Given the description of an element on the screen output the (x, y) to click on. 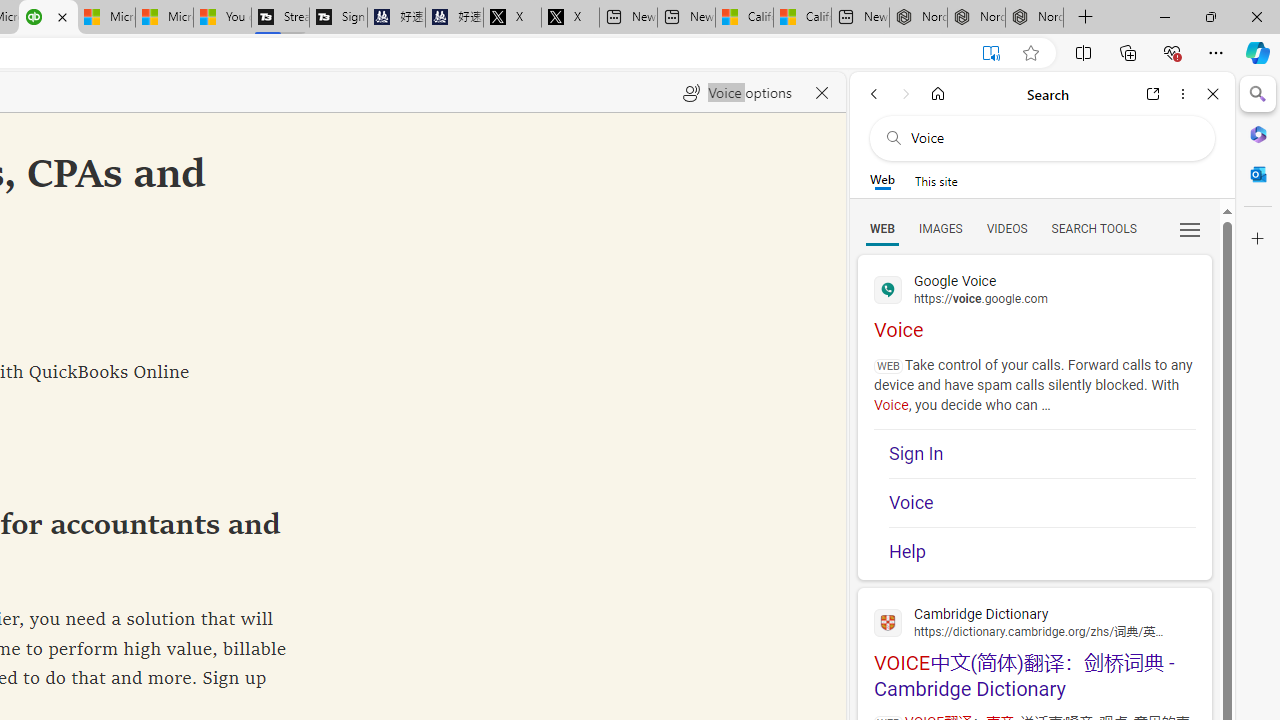
Search Filter, WEB (882, 228)
Voice (1042, 502)
Class: b_serphb (1190, 229)
Open link in new tab (1153, 93)
Web scope (882, 180)
Preferences (1189, 228)
Search Filter, IMAGES (939, 228)
Help (1042, 545)
Voice (1042, 502)
